Given the description of an element on the screen output the (x, y) to click on. 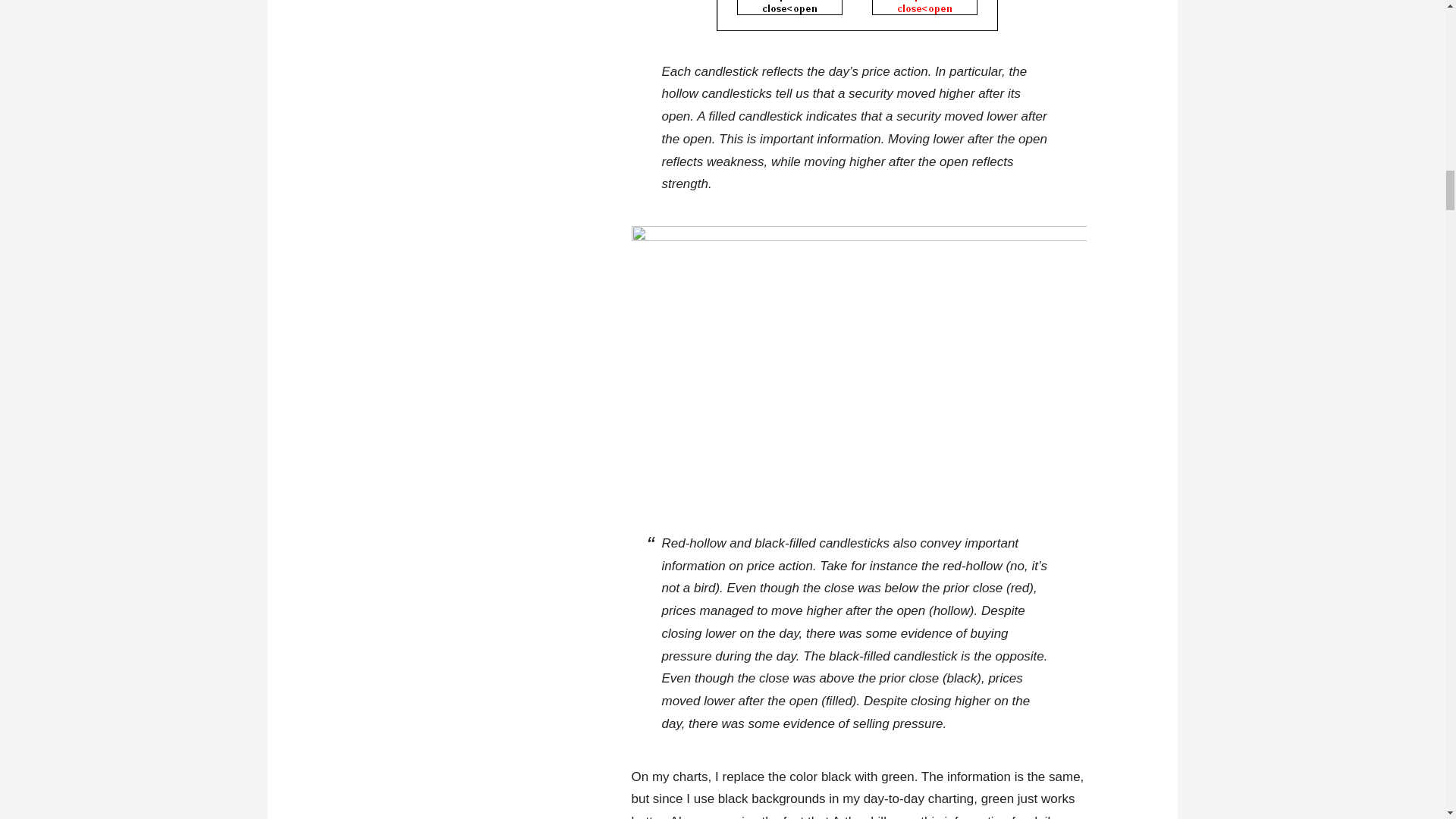
11-24-12 candles (858, 18)
11-24-12 qcom (858, 364)
